Given the description of an element on the screen output the (x, y) to click on. 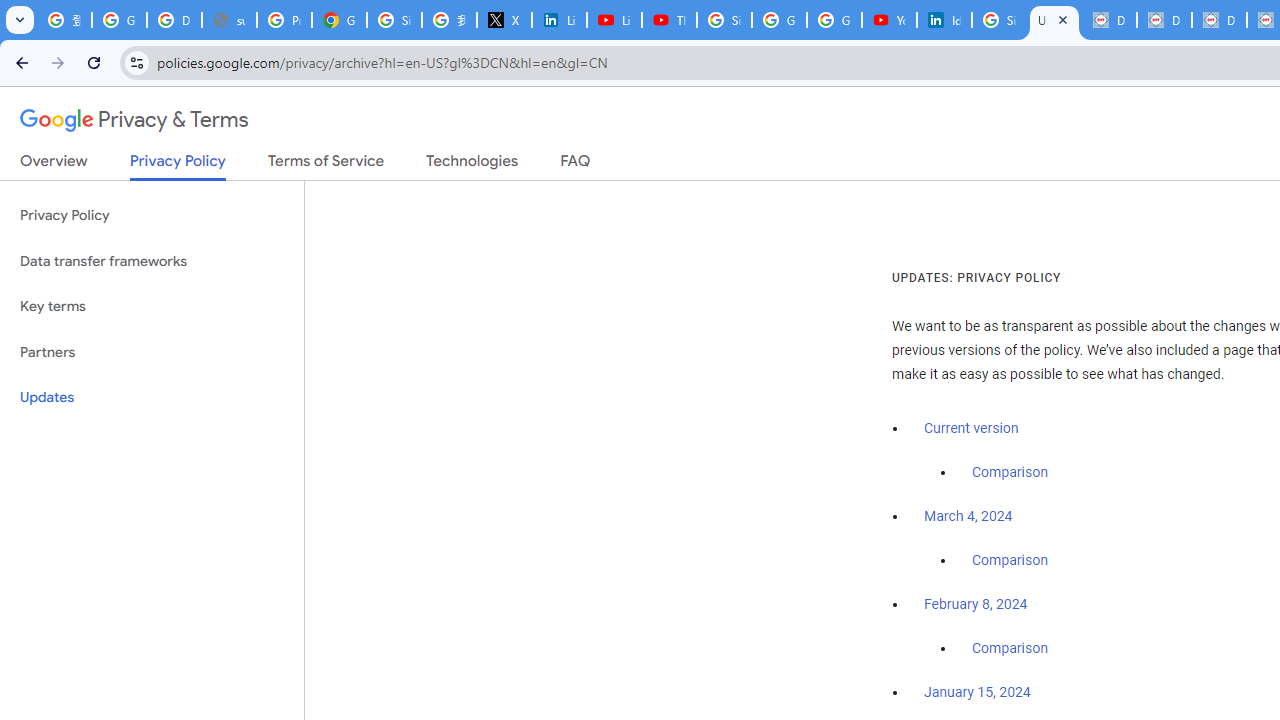
March 4, 2024 (968, 517)
Comparison (1009, 649)
Partners (152, 352)
Sign in - Google Accounts (998, 20)
Data Privacy Framework (1108, 20)
Sign in - Google Accounts (394, 20)
